Given the description of an element on the screen output the (x, y) to click on. 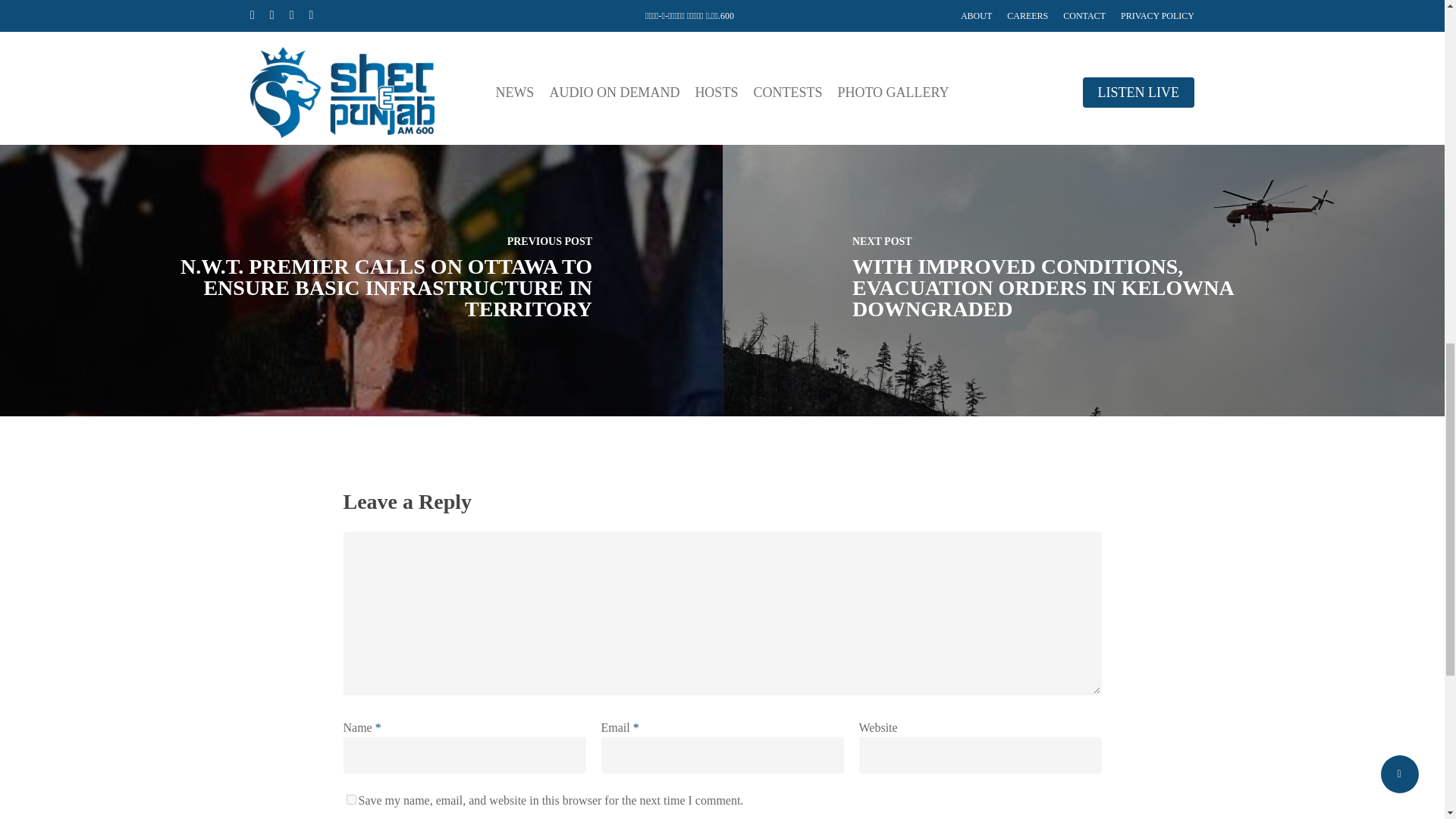
yes (350, 799)
